Given the description of an element on the screen output the (x, y) to click on. 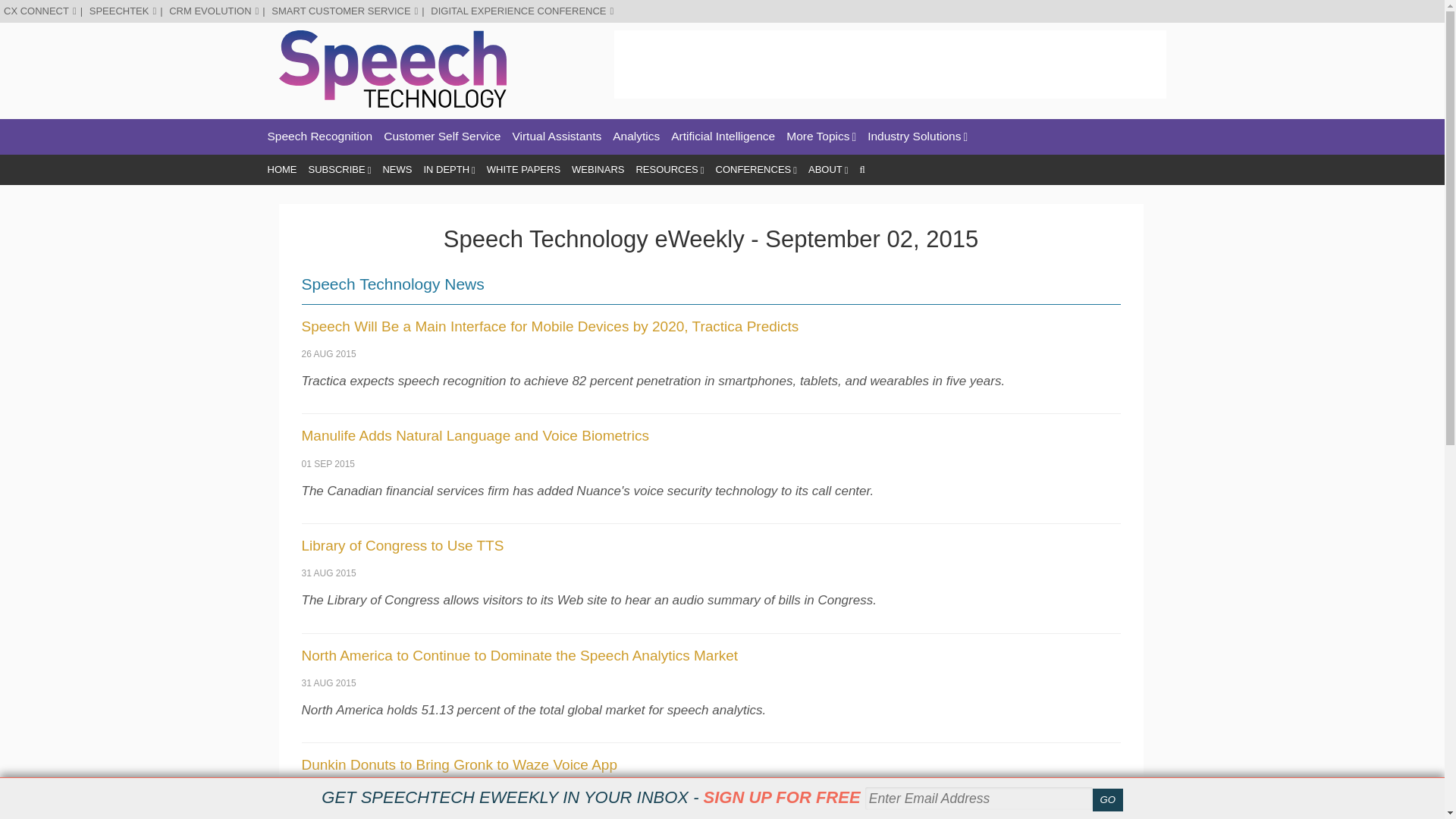
CX CONNECT (40, 10)
DIGITAL EXPERIENCE CONFERENCE (521, 10)
SMART CUSTOMER SERVICE (343, 10)
Artificial Intelligence (722, 136)
Speech Recognition (319, 136)
Analytics (635, 136)
CRM EVOLUTION (213, 10)
Industry Solutions (917, 136)
3rd party ad content (890, 64)
Speech Recognition (319, 136)
Virtual Assistants (556, 136)
More Topics (821, 136)
GO (1107, 799)
Artificial Intelligence (722, 136)
Customer Self Service (442, 136)
